Given the description of an element on the screen output the (x, y) to click on. 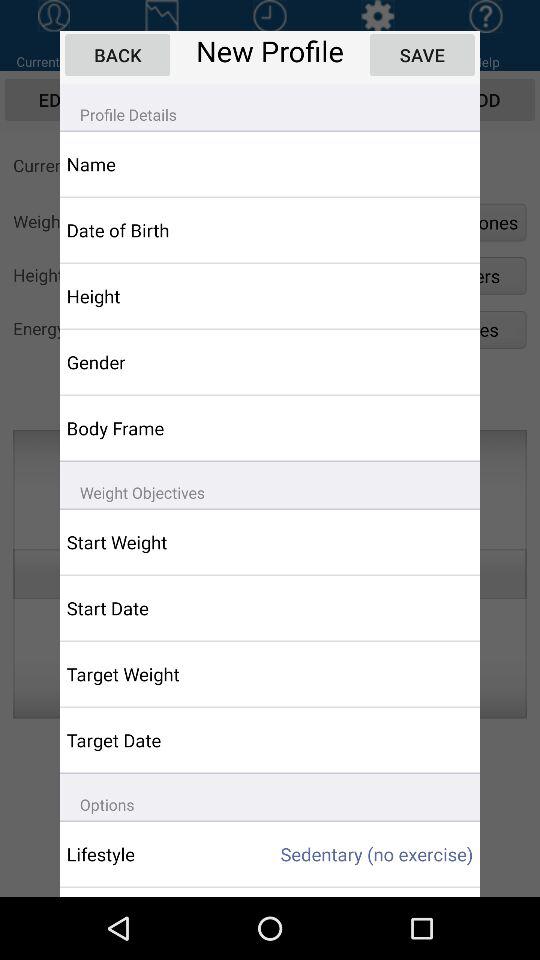
open the item above the date of birth app (156, 163)
